Given the description of an element on the screen output the (x, y) to click on. 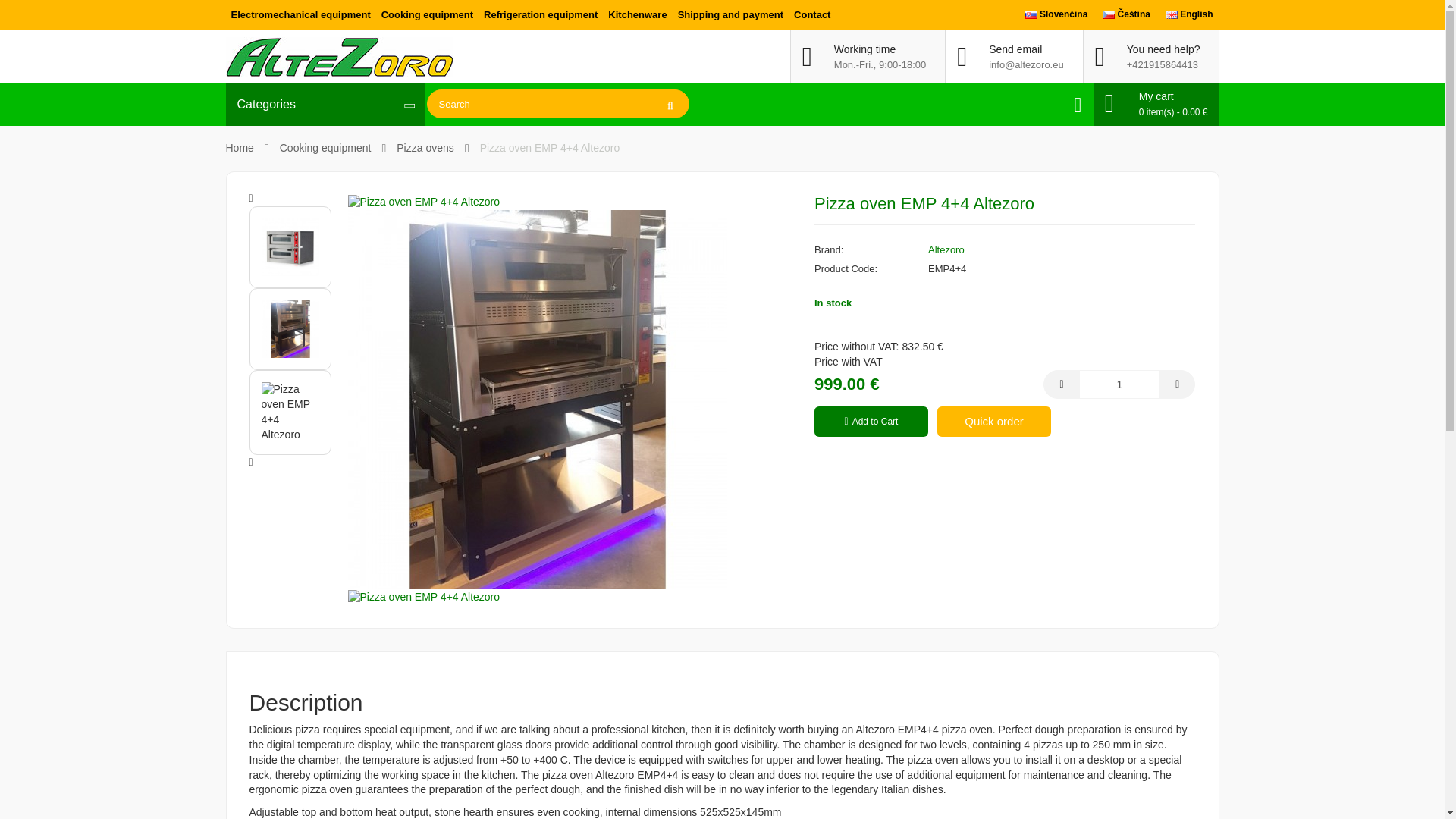
Shipping and payment (730, 15)
Contact (812, 15)
Categories (325, 104)
ALTEZORO s.r.o. (338, 56)
Kitchenware (636, 15)
English (1171, 14)
Refrigeration equipment (540, 15)
My Account (1077, 104)
Cooking equipment (427, 15)
English (1189, 14)
Mon.-Fri., 9:00-18:00 (880, 64)
1 (1119, 384)
Electromechanical equipment (300, 15)
